Given the description of an element on the screen output the (x, y) to click on. 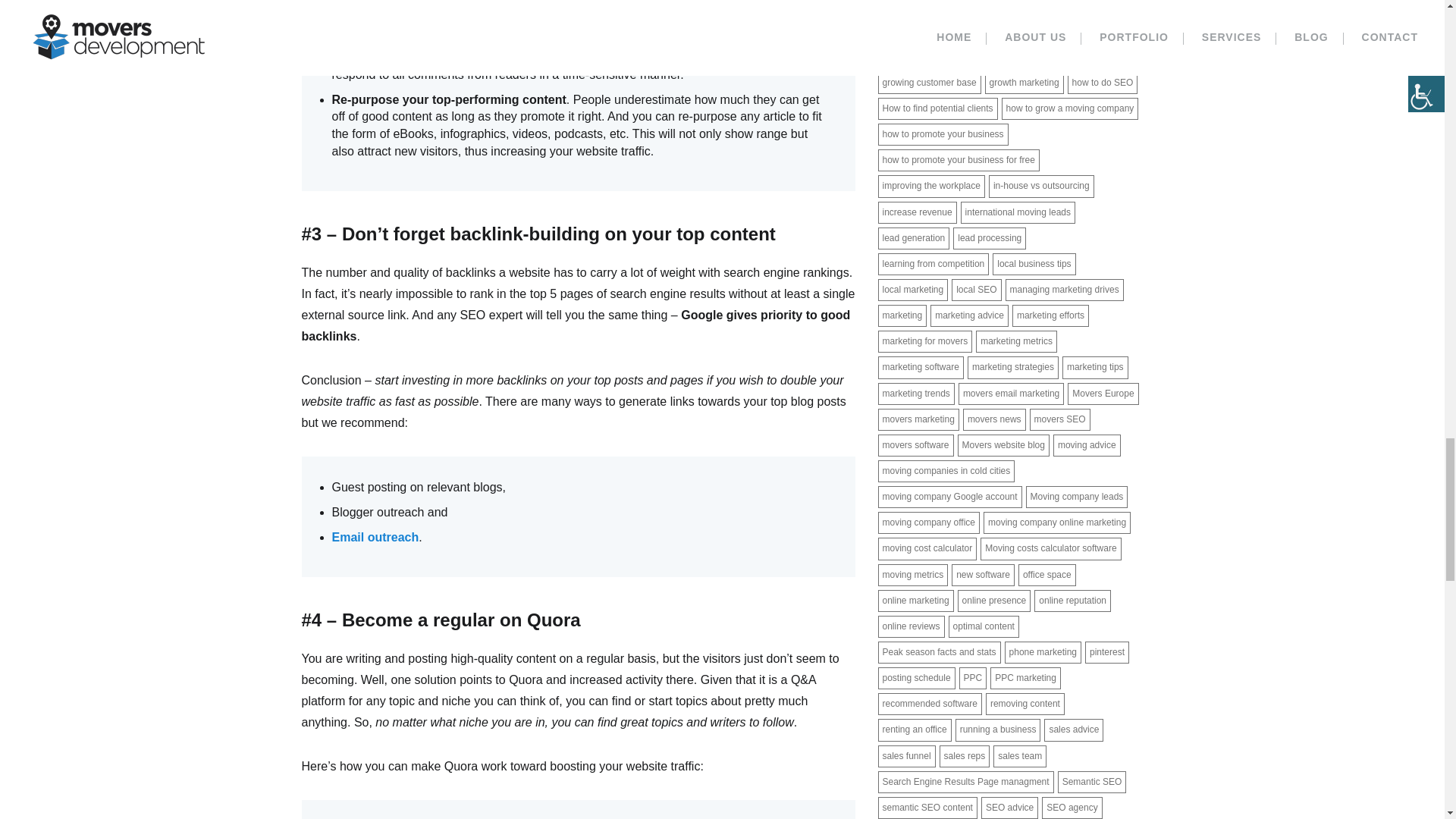
Email outreach (375, 536)
